Given the description of an element on the screen output the (x, y) to click on. 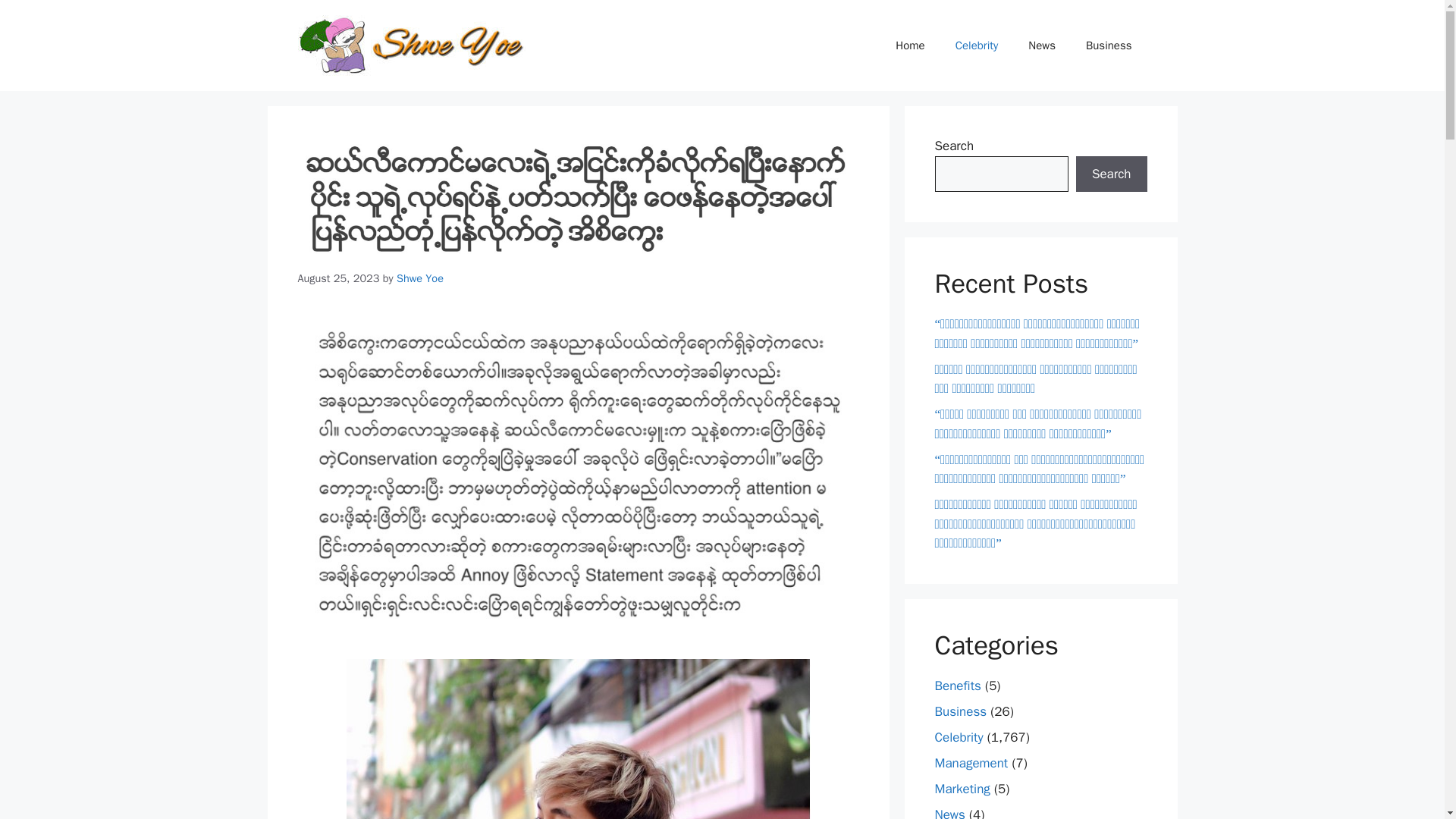
Business (1108, 44)
Celebrity (976, 44)
Search (1111, 174)
Management (970, 763)
Shwe Yoe (420, 278)
Marketing (962, 788)
News (948, 812)
View all posts by Shwe Yoe (420, 278)
Home (909, 44)
Business (960, 711)
Celebrity (958, 737)
Benefits (956, 685)
News (1041, 44)
